Given the description of an element on the screen output the (x, y) to click on. 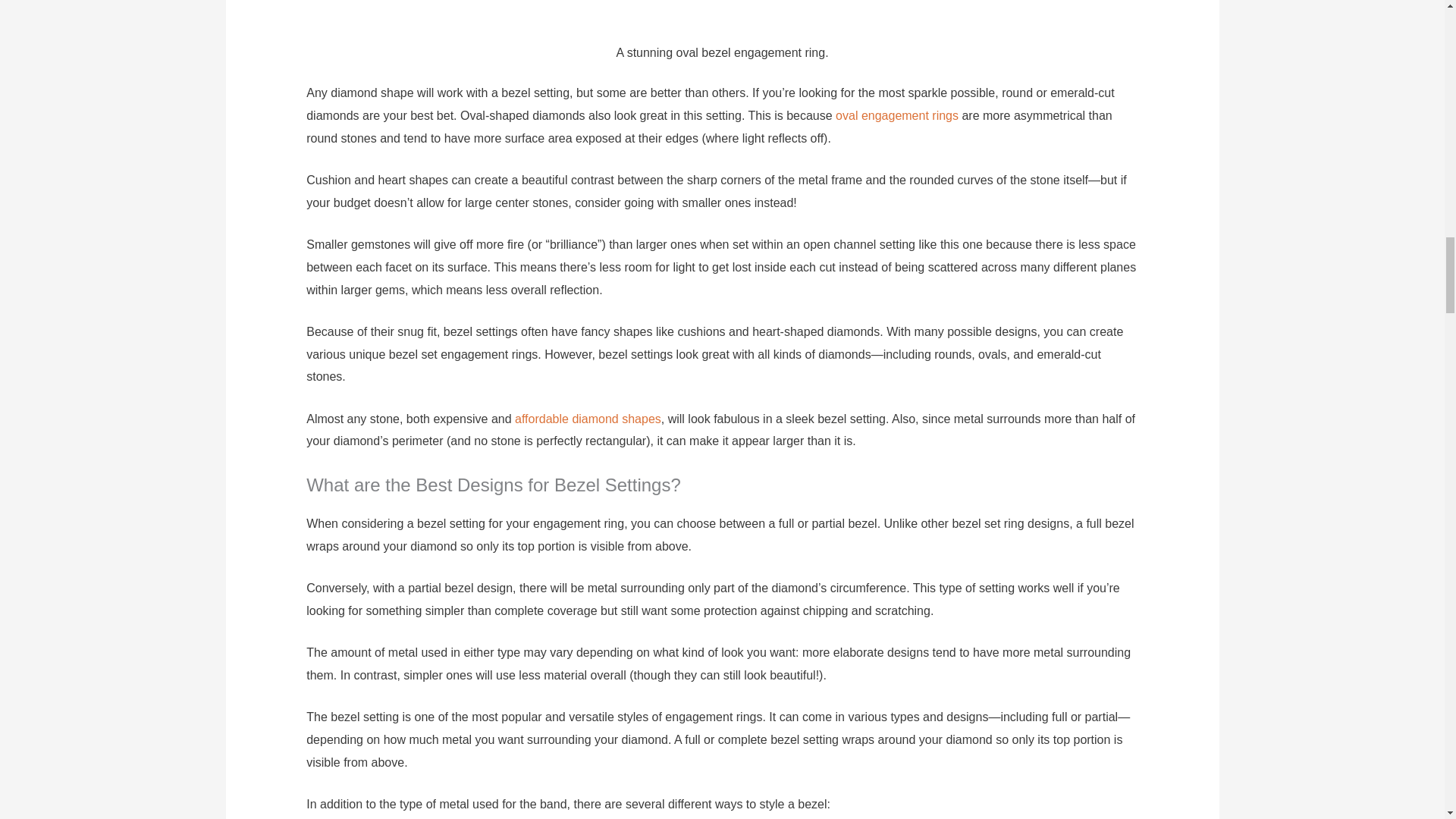
oval engagement rings (896, 115)
affordable diamond shapes (588, 418)
